Given the description of an element on the screen output the (x, y) to click on. 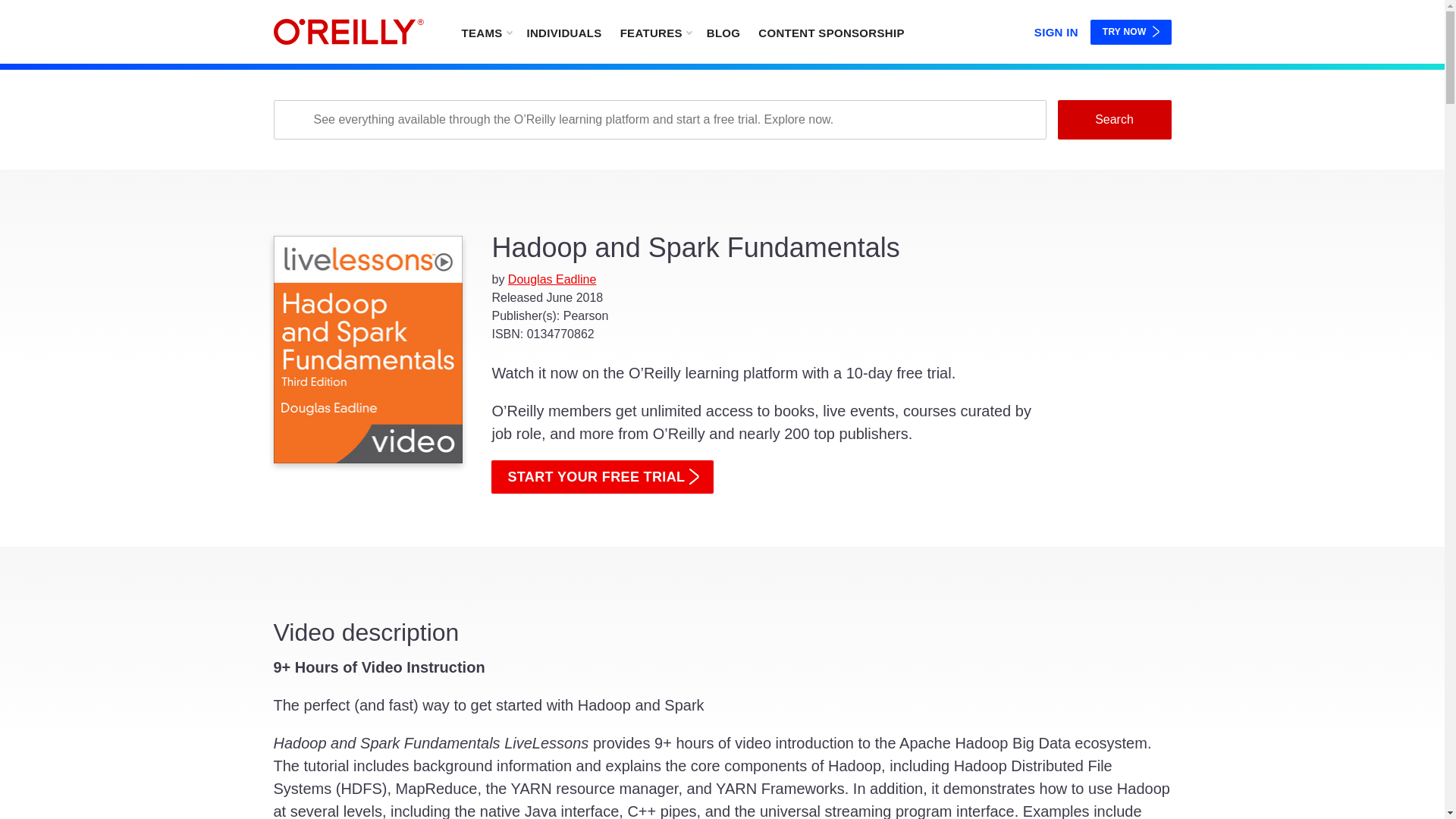
SIGN IN (1055, 29)
Douglas Eadline (552, 278)
FEATURES (655, 31)
START YOUR FREE TRIAL (602, 476)
Search (1113, 119)
Search (1113, 119)
BLOG (723, 31)
Search (1113, 119)
TRY NOW (1131, 32)
home page (348, 31)
